Given the description of an element on the screen output the (x, y) to click on. 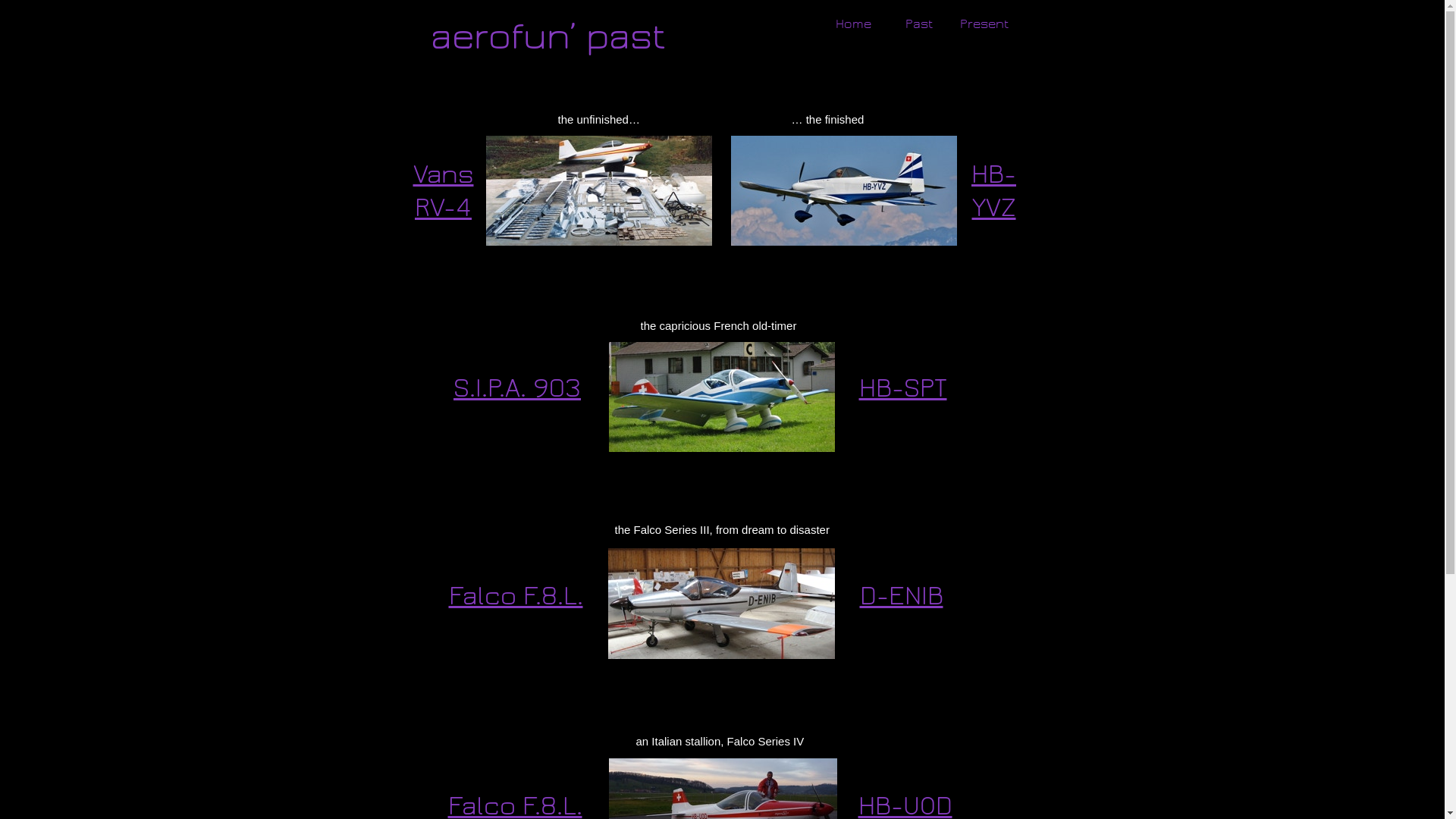
YVZ Element type: text (994, 207)
HB- Element type: text (993, 174)
the capricious French old-timer Element type: text (718, 325)
HB-SPT Element type: text (902, 387)
RV-4 Element type: text (442, 207)
the Falco Series III, from dream to disaster Element type: text (721, 529)
D-ENIB Element type: text (901, 595)
an Italian stallion, Falco Series IV Element type: text (719, 740)
S.I.P.A. 903 Element type: text (516, 387)
Vans Element type: text (442, 174)
Falco F.8.L. Element type: text (515, 595)
